Given the description of an element on the screen output the (x, y) to click on. 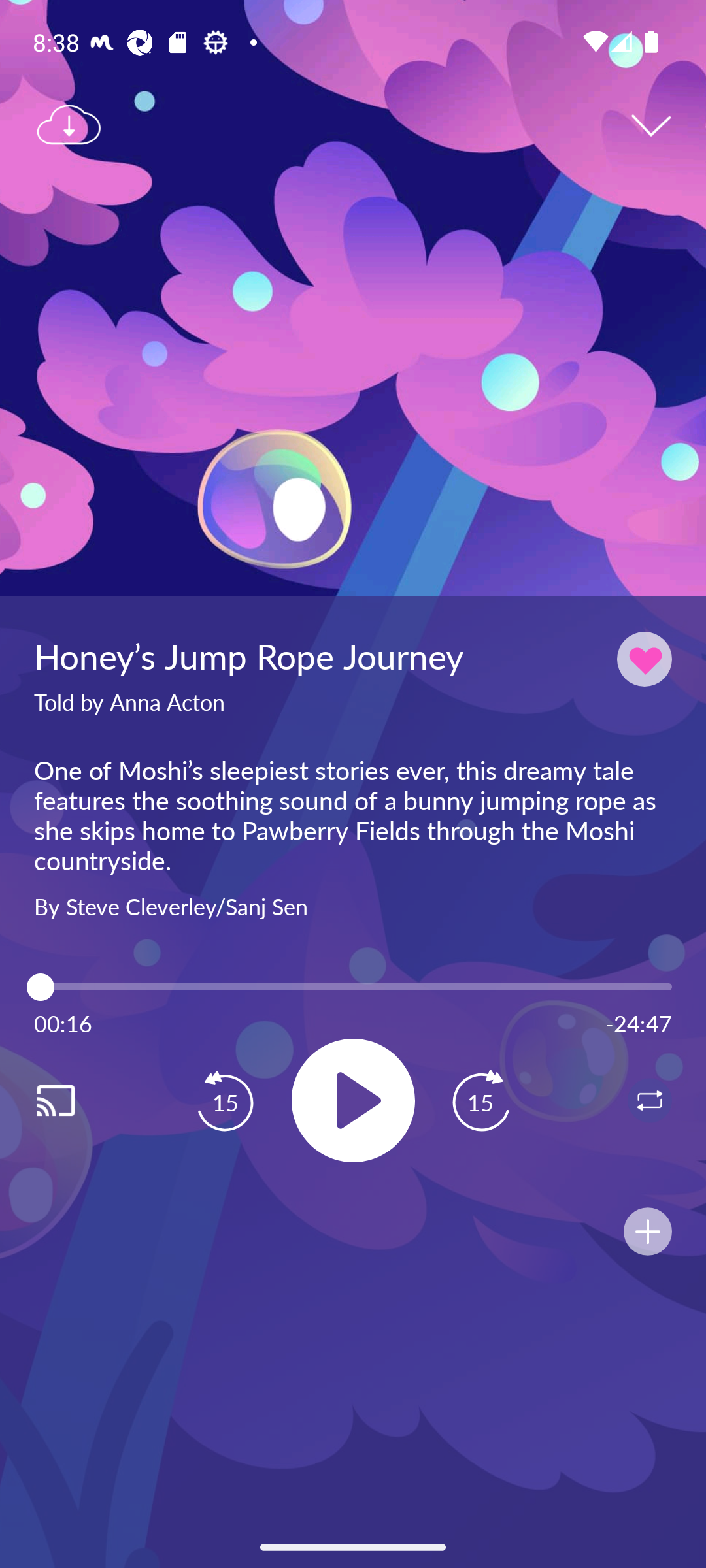
16.0 (352, 986)
Cast. Disconnected (76, 1100)
